Given the description of an element on the screen output the (x, y) to click on. 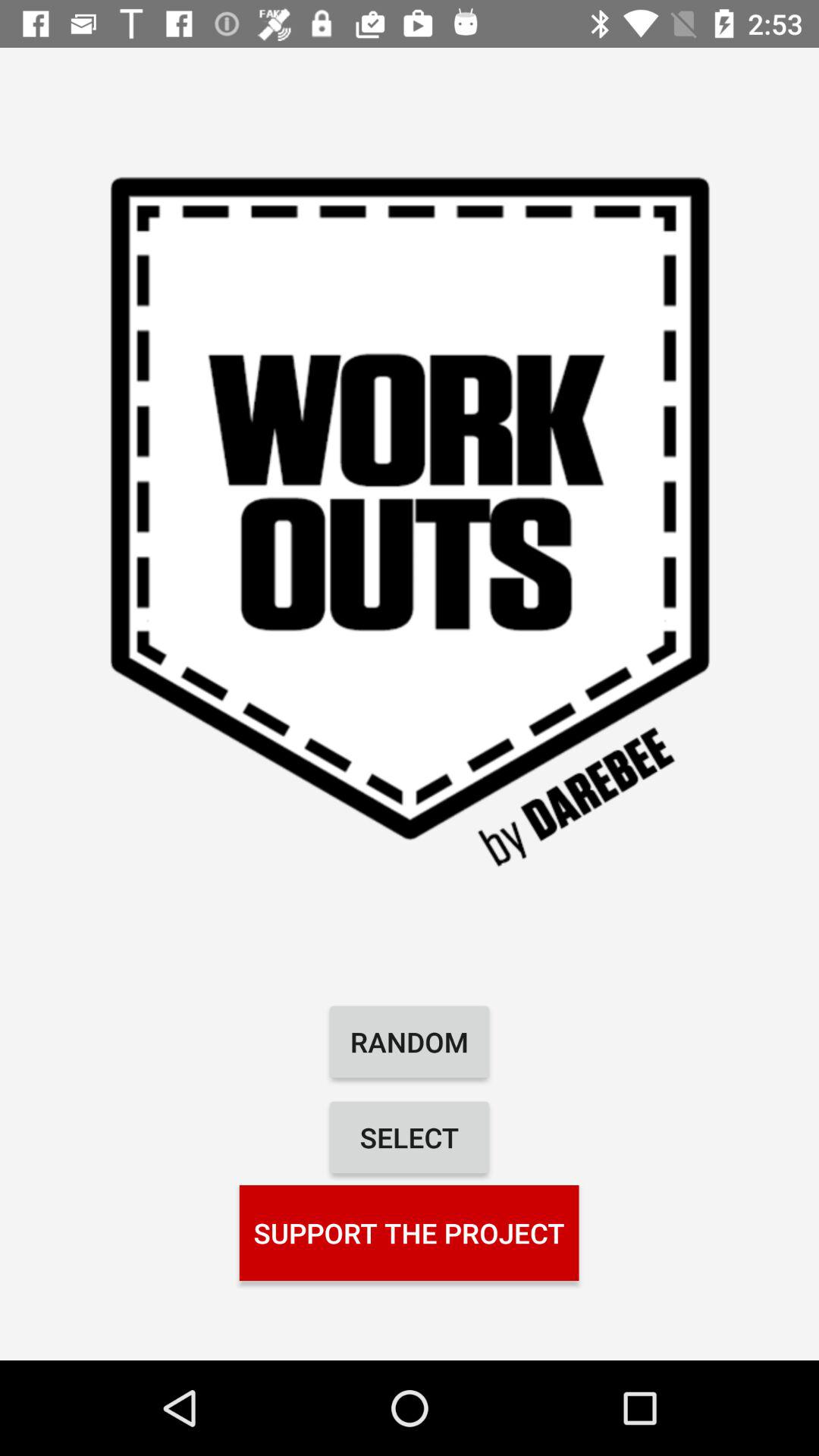
open icon below the select icon (408, 1232)
